Given the description of an element on the screen output the (x, y) to click on. 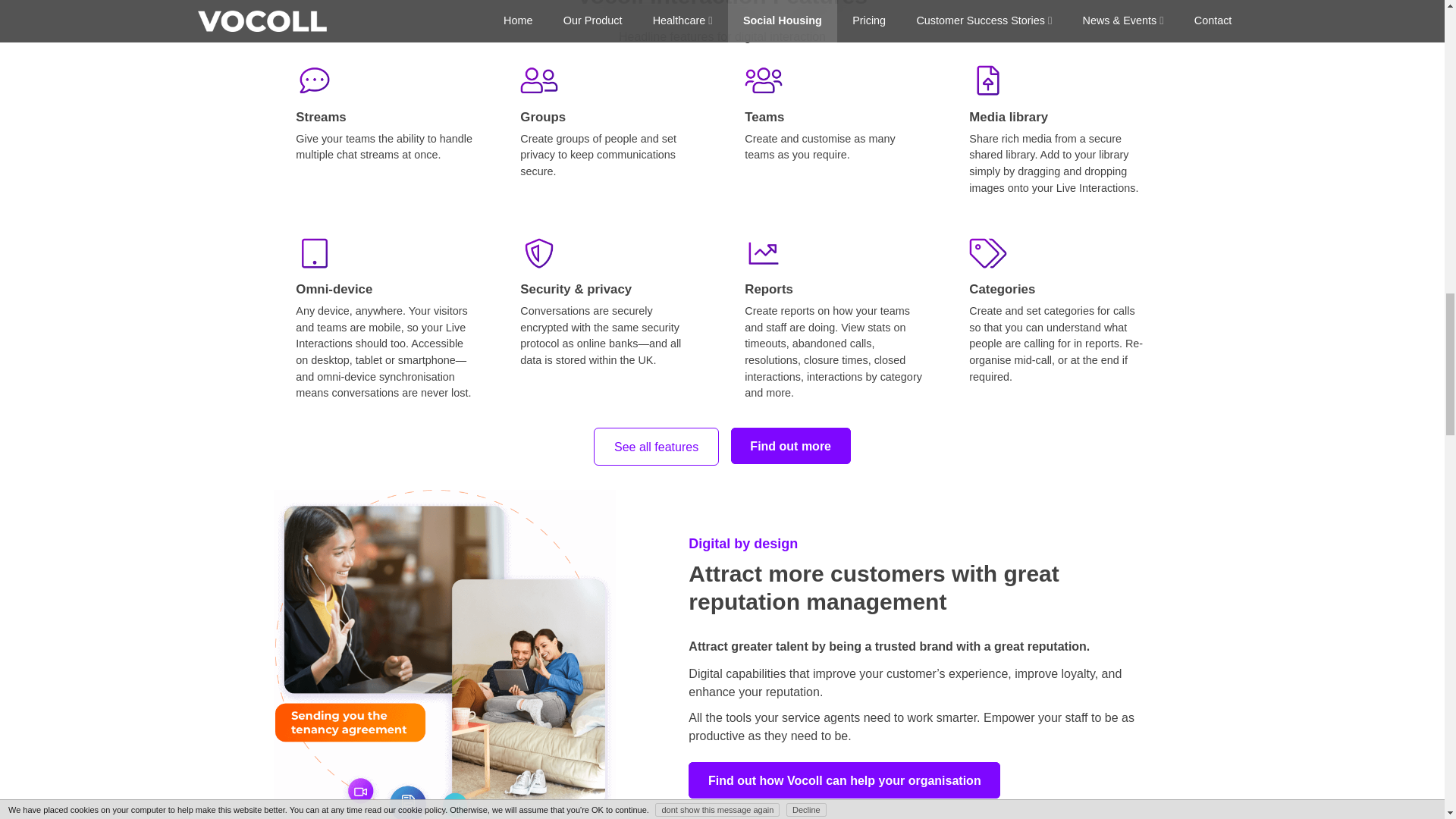
Find out more (790, 445)
Find out how Vocoll can help your organisation (844, 780)
Contact (844, 780)
See all features (655, 446)
